Given the description of an element on the screen output the (x, y) to click on. 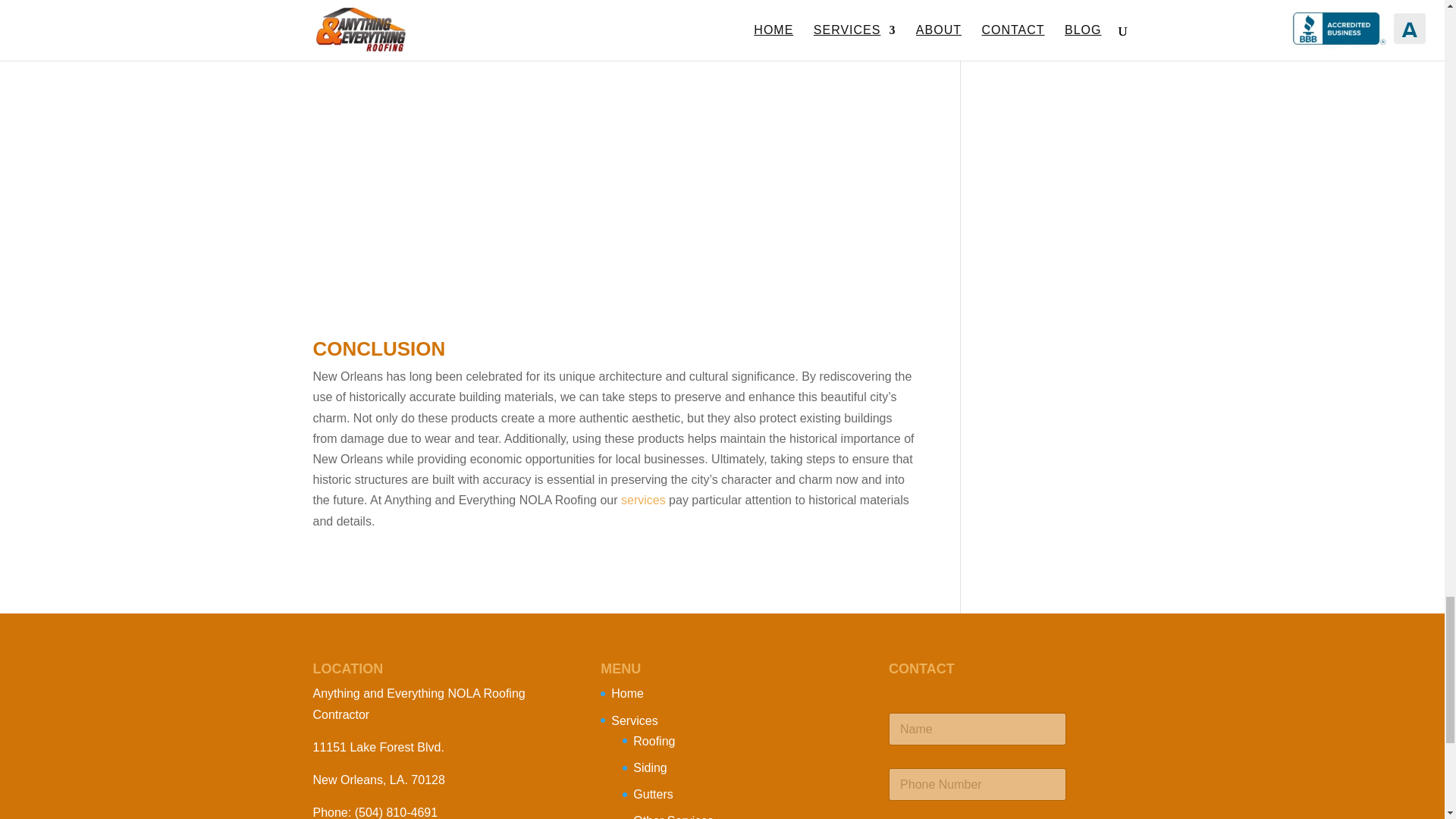
Other Services (673, 816)
services (643, 499)
Siding (649, 767)
Gutters (652, 793)
Home (627, 693)
Services (634, 720)
Roofing (654, 740)
